Given the description of an element on the screen output the (x, y) to click on. 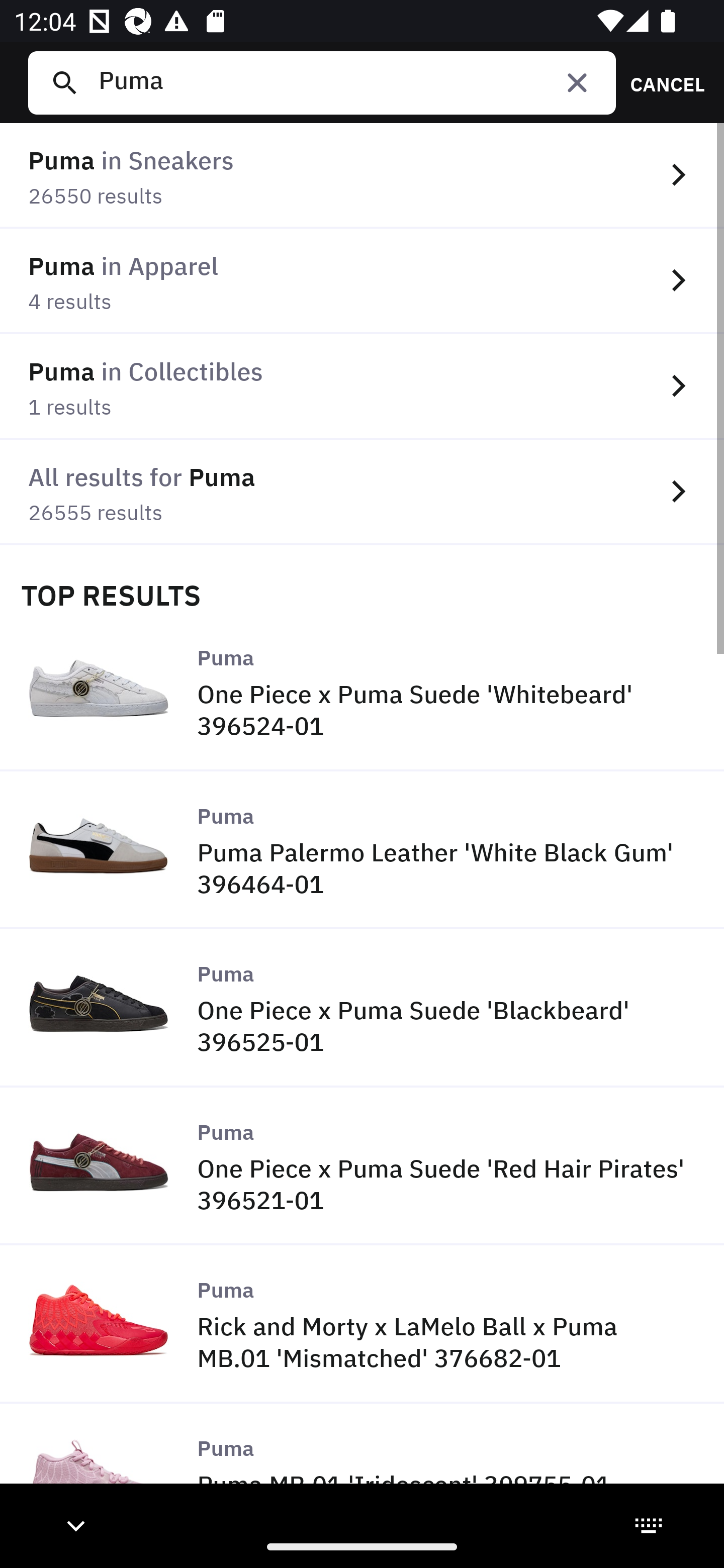
CANCEL (660, 82)
Puma (349, 82)
 (577, 82)
Puma  in Sneakers 26550 results  (362, 175)
Puma  in Apparel 4 results  (362, 280)
Puma  in Collectibles 1 results  (362, 386)
All results for  Puma 26555 results  (362, 492)
Puma One Piece x Puma Suede 'Whitebeard' 396524‑01 (362, 692)
Puma One Piece x Puma Suede 'Blackbeard' 396525‑01 (362, 1008)
